Given the description of an element on the screen output the (x, y) to click on. 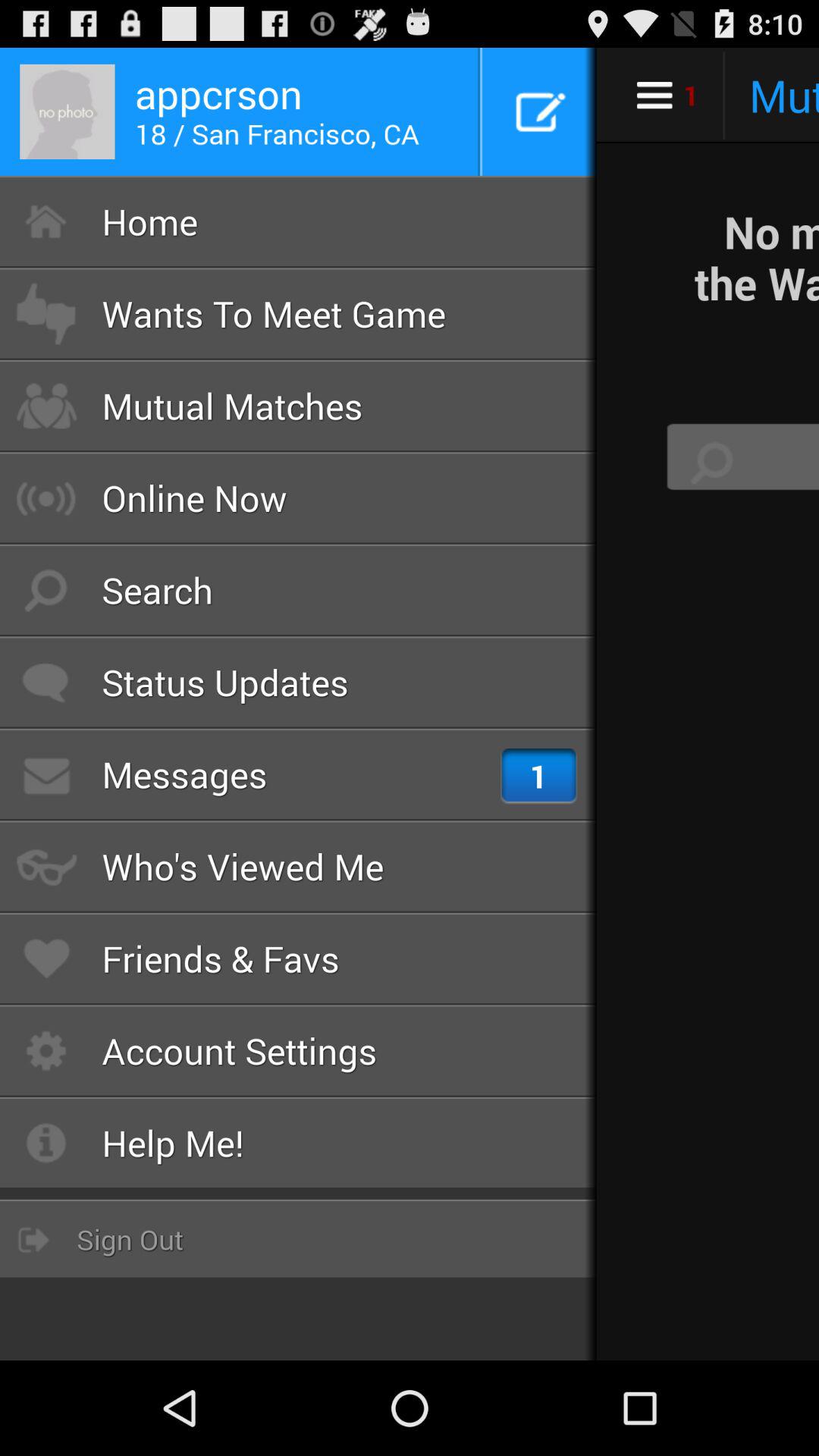
click on the menu bar icon (653, 95)
